Given the description of an element on the screen output the (x, y) to click on. 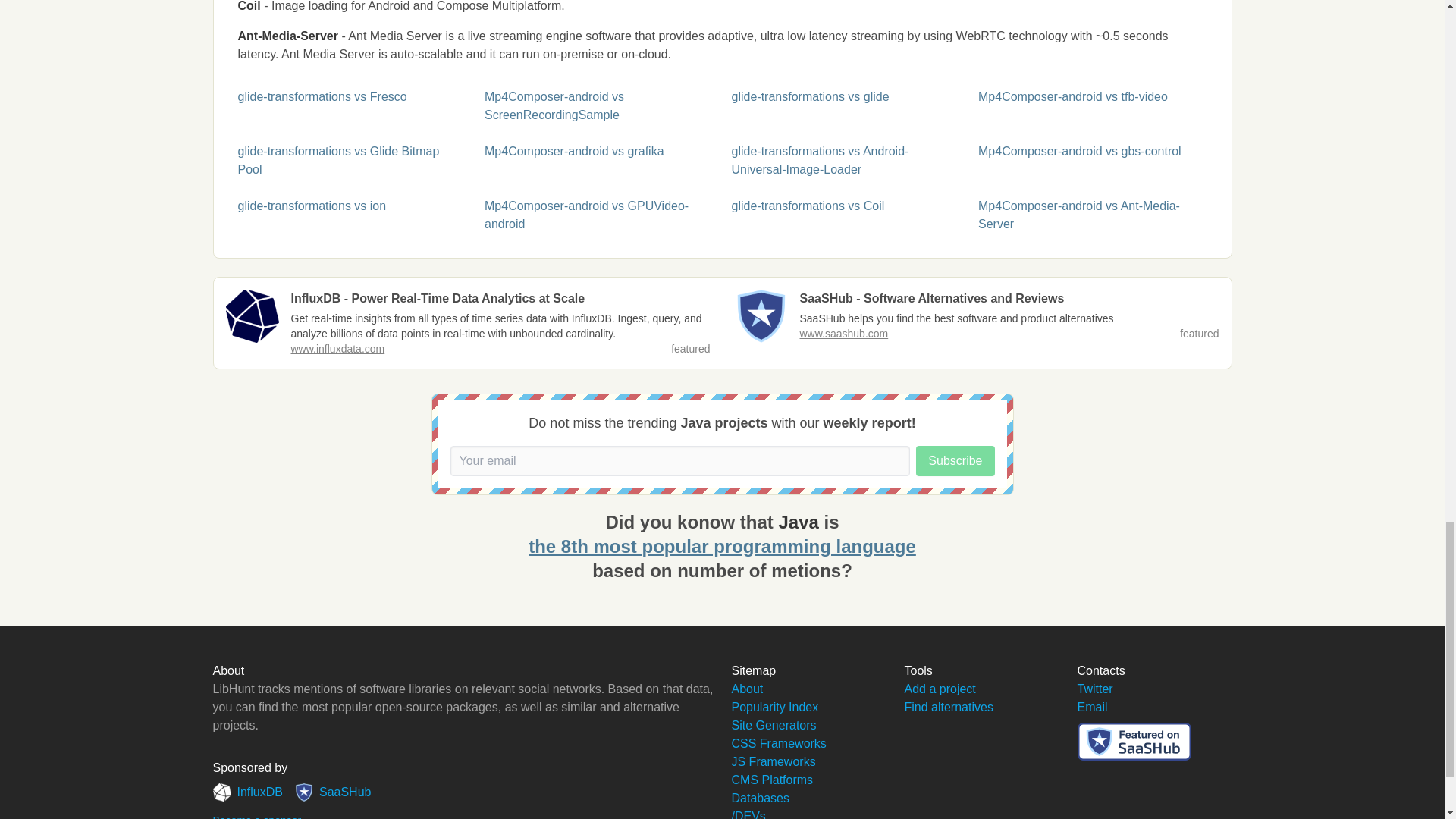
Subscribe (954, 460)
InfluxDB Logo (252, 316)
SaaSHub Logo (760, 316)
